Given the description of an element on the screen output the (x, y) to click on. 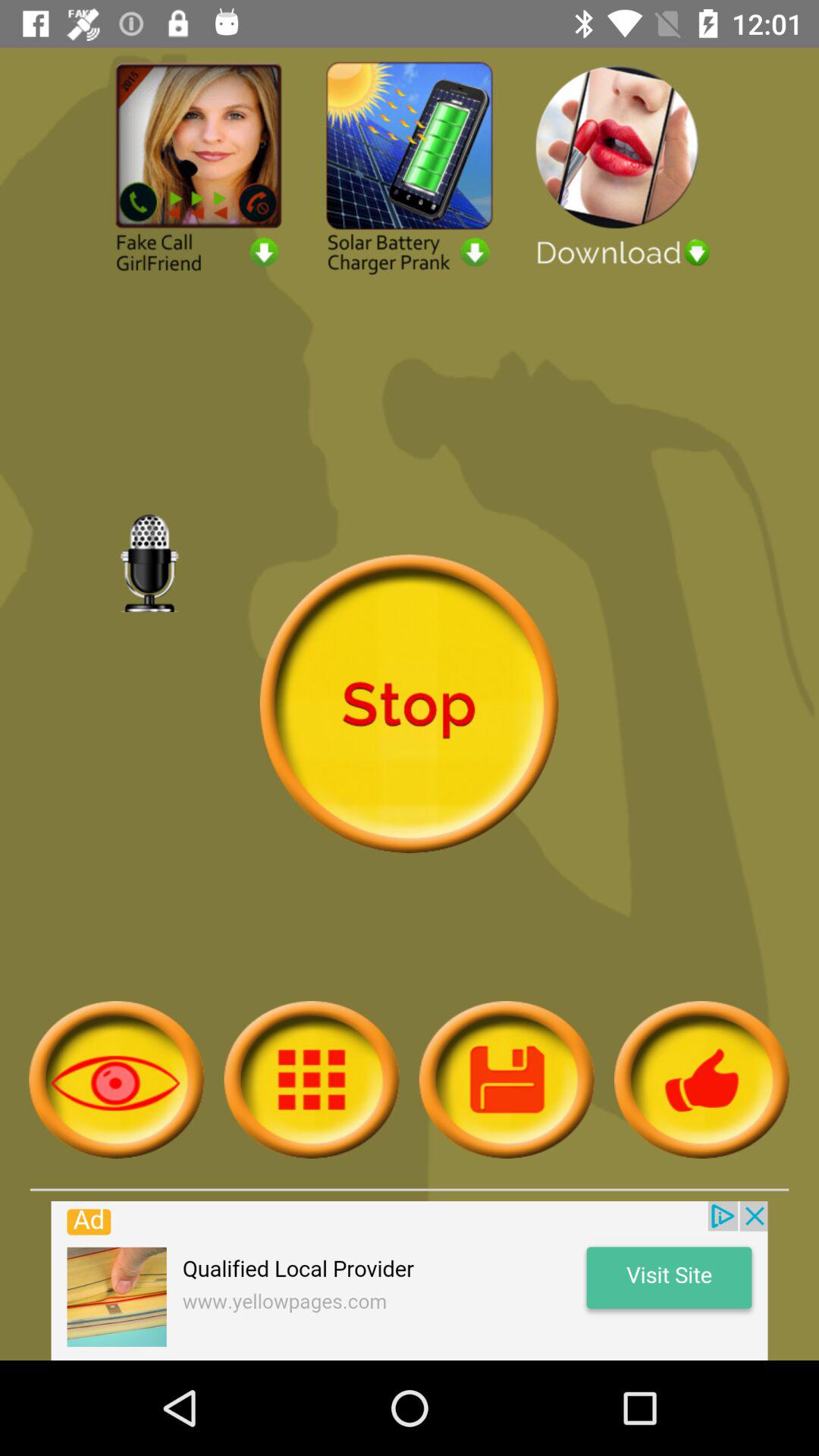
download app (619, 166)
